Given the description of an element on the screen output the (x, y) to click on. 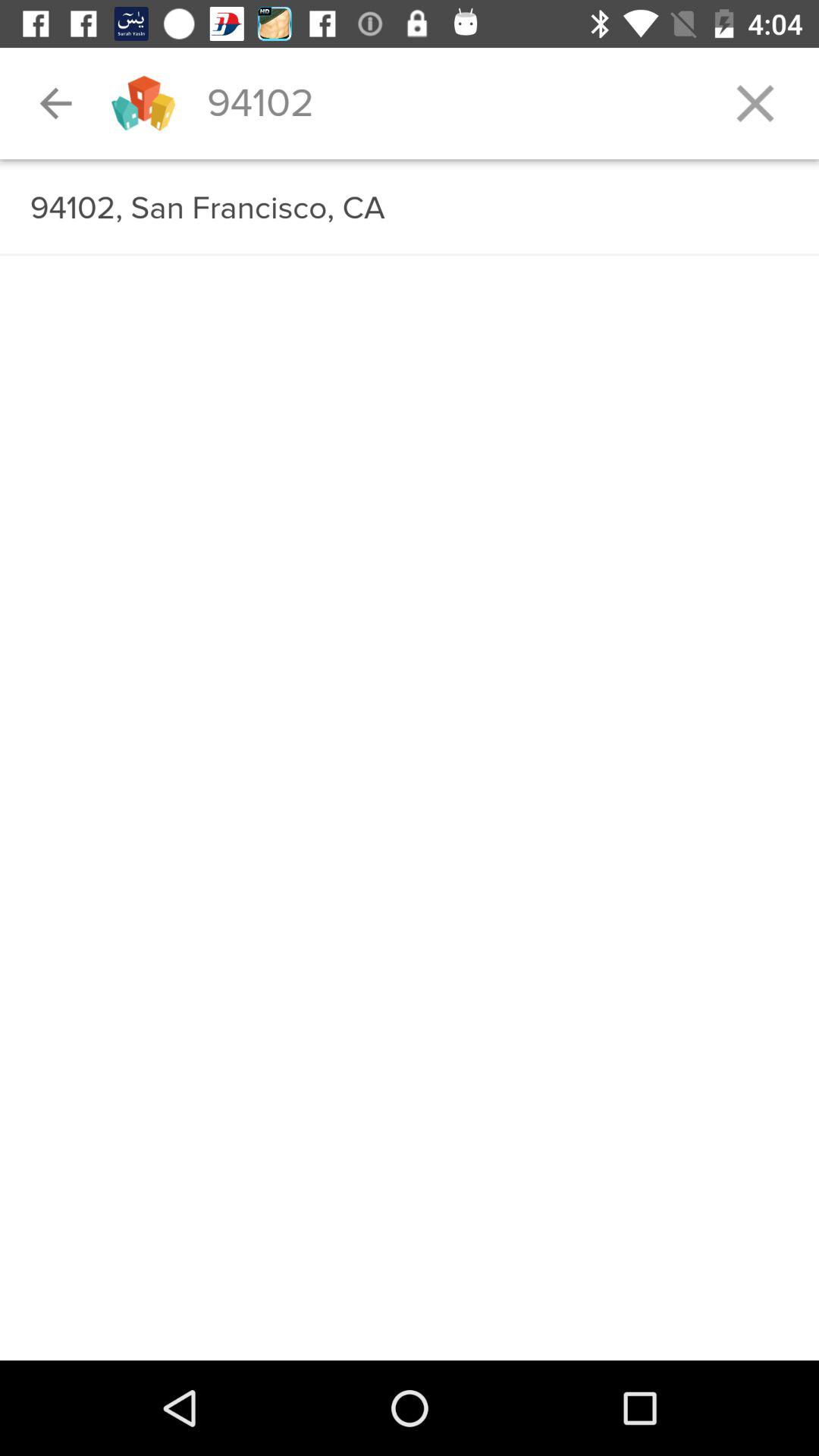
turn on the item next to the 94102 (755, 103)
